Given the description of an element on the screen output the (x, y) to click on. 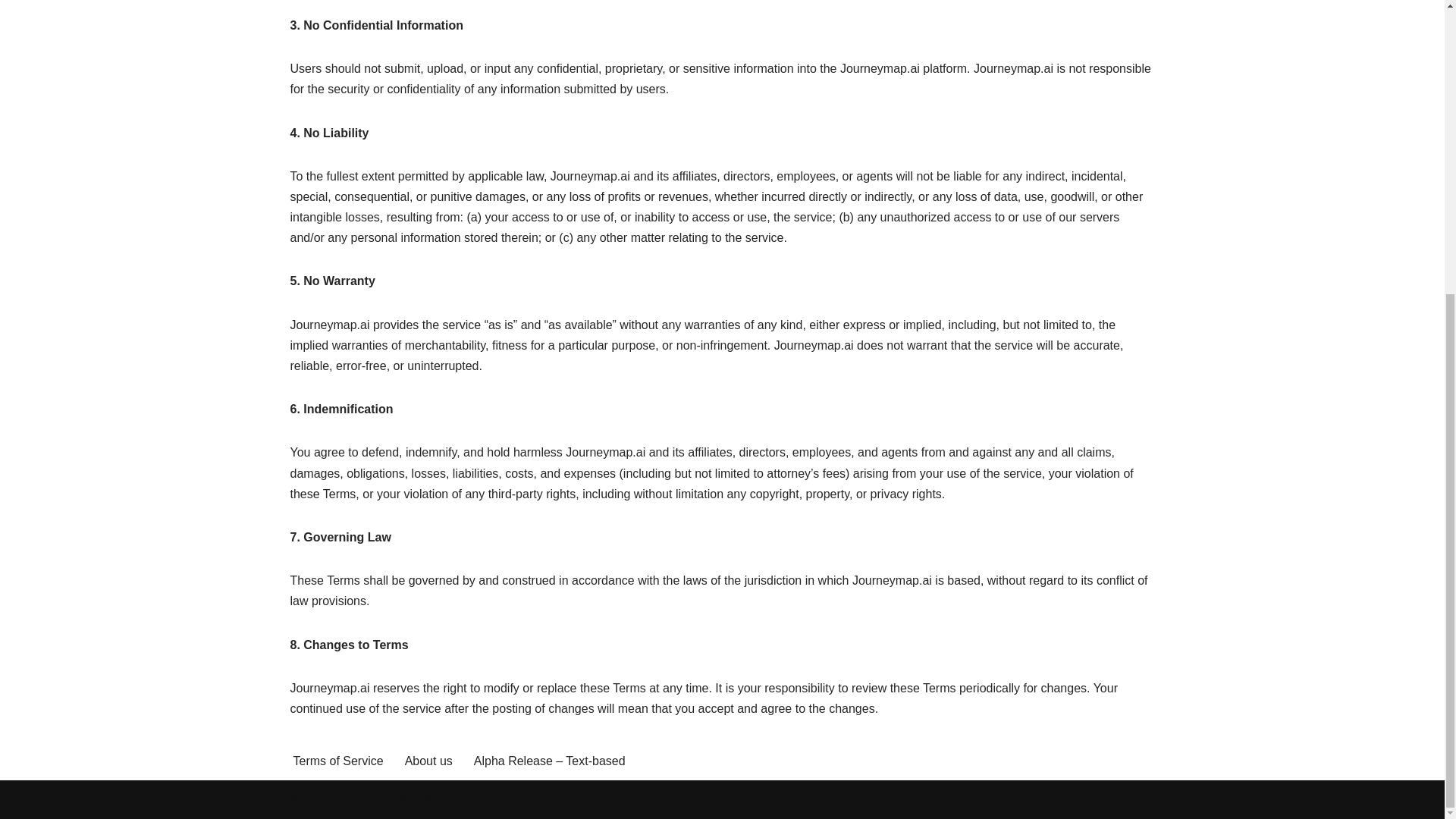
WordPress (425, 799)
Terms of Service (337, 761)
About us (428, 761)
Neve (303, 799)
